Given the description of an element on the screen output the (x, y) to click on. 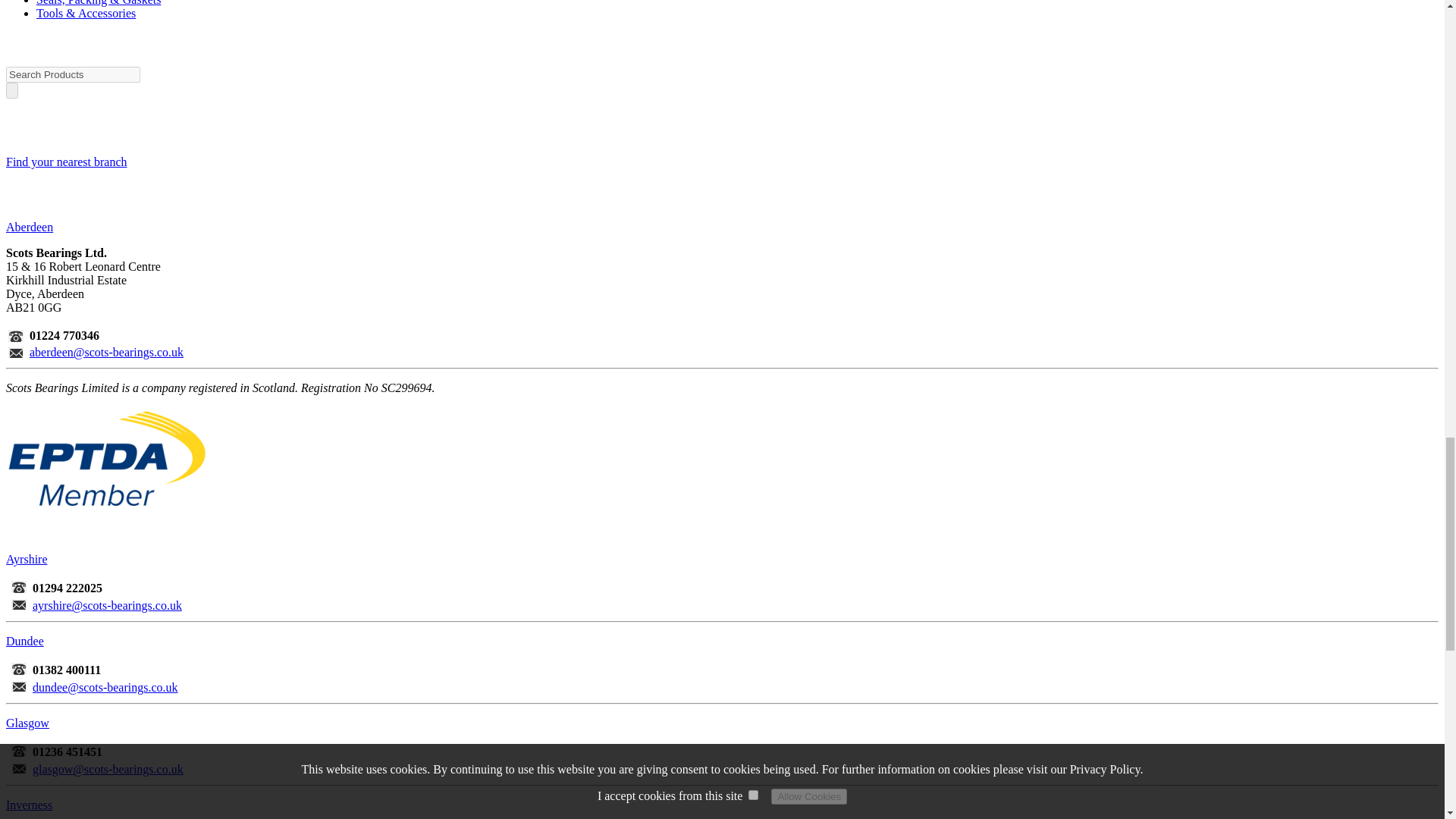
Search Products (72, 74)
Inverness (28, 804)
Glasgow (27, 722)
Dundee (24, 640)
Contact Us (66, 161)
Ayrshire (26, 558)
Aberdeen (28, 226)
